Given the description of an element on the screen output the (x, y) to click on. 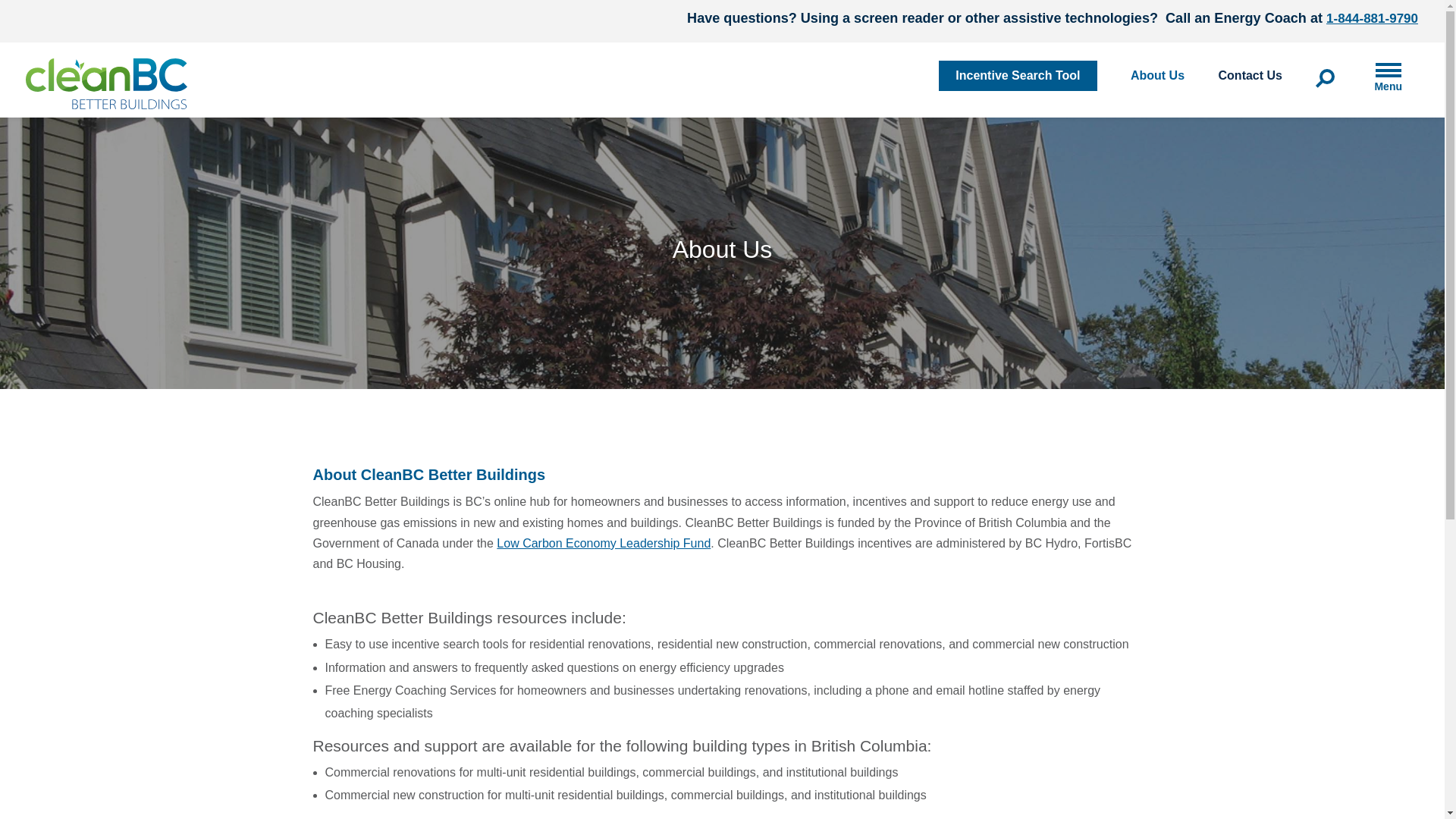
Low Carbon Economy Leadership Fund (603, 543)
Incentive Search Tool (1017, 75)
About Us (1158, 75)
Contact Us (1250, 75)
1-844-881-9790 (1372, 18)
